Given the description of an element on the screen output the (x, y) to click on. 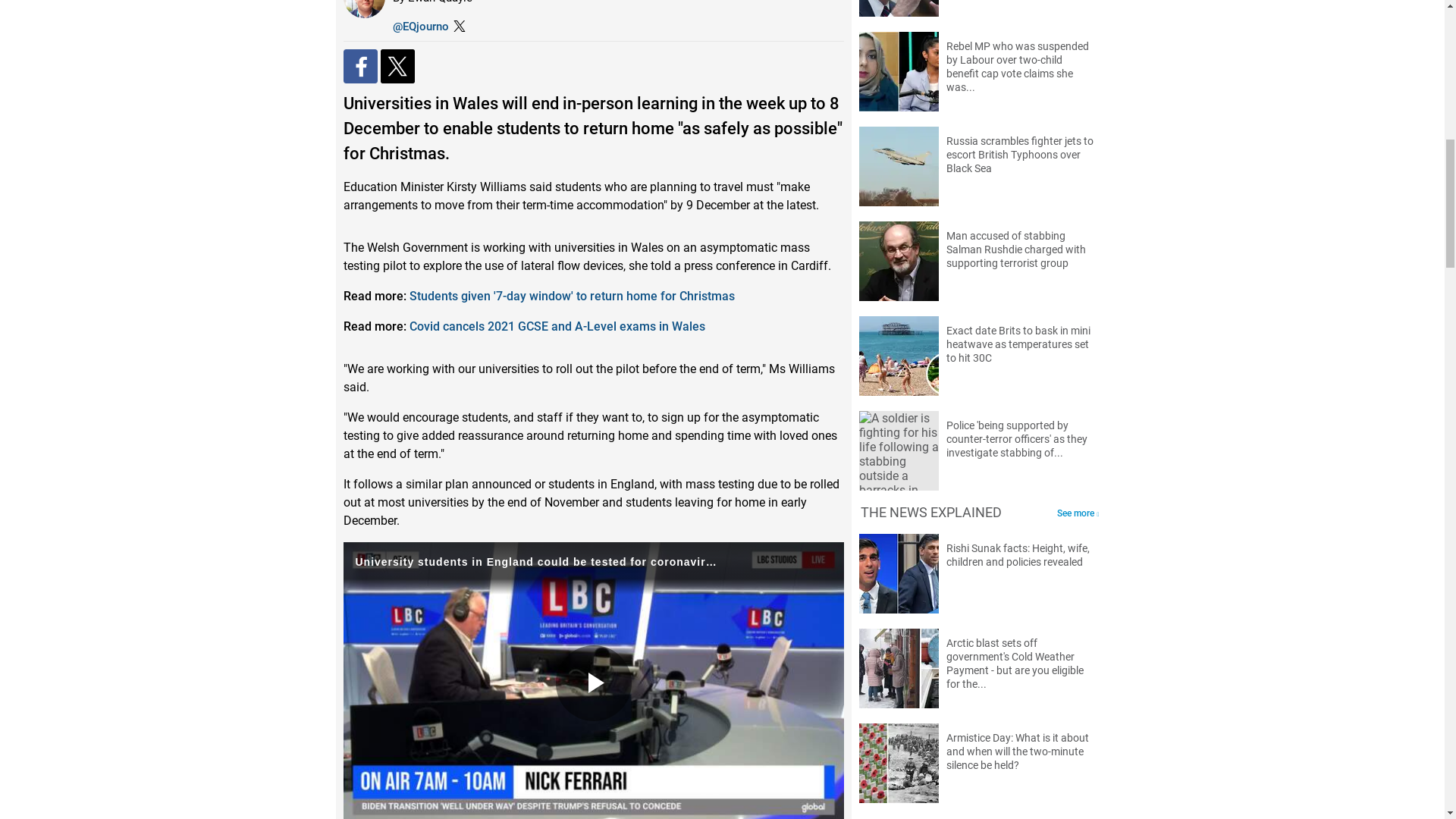
Follow Ewan Quayle on X (420, 26)
